Given the description of an element on the screen output the (x, y) to click on. 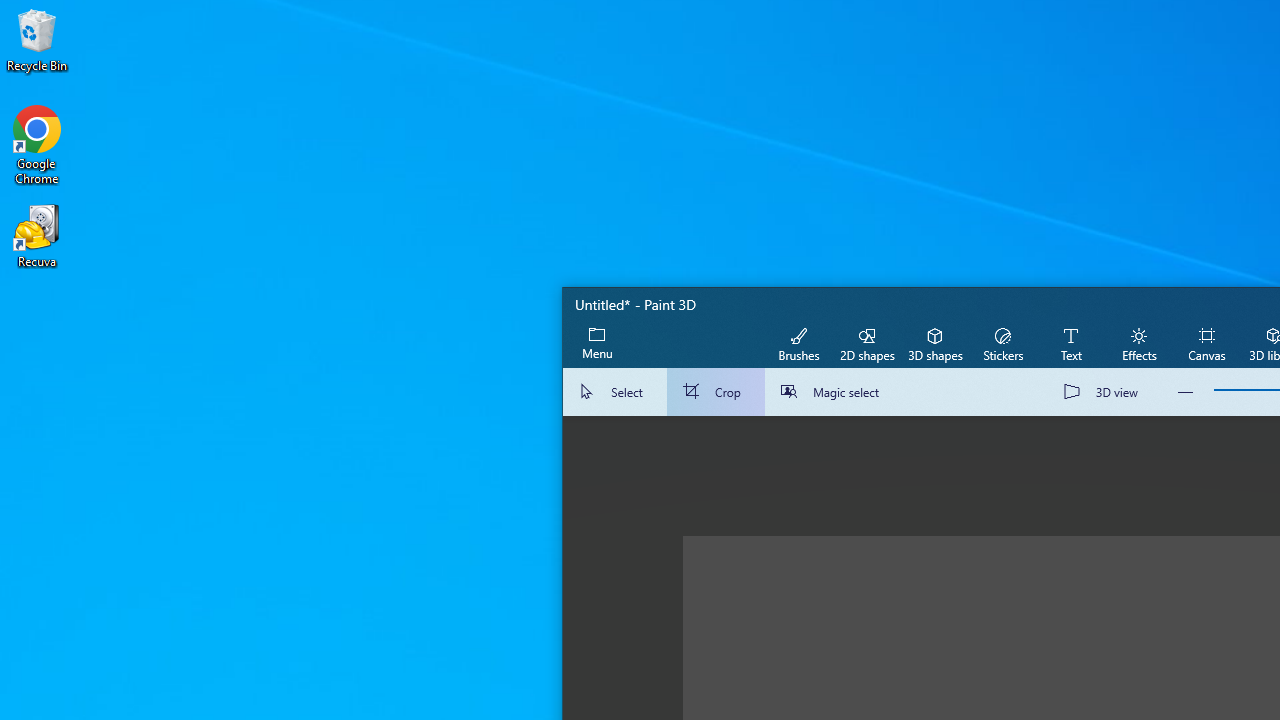
3D view (1105, 391)
Text (1070, 343)
Crop (715, 391)
3D shapes (934, 343)
Magic select (833, 391)
Canvas (1206, 343)
Stickers (1002, 343)
Effects (1138, 343)
Brushes (799, 343)
Zoom out (1185, 391)
Expand menu (597, 343)
Select (614, 391)
2D shapes (867, 343)
